Given the description of an element on the screen output the (x, y) to click on. 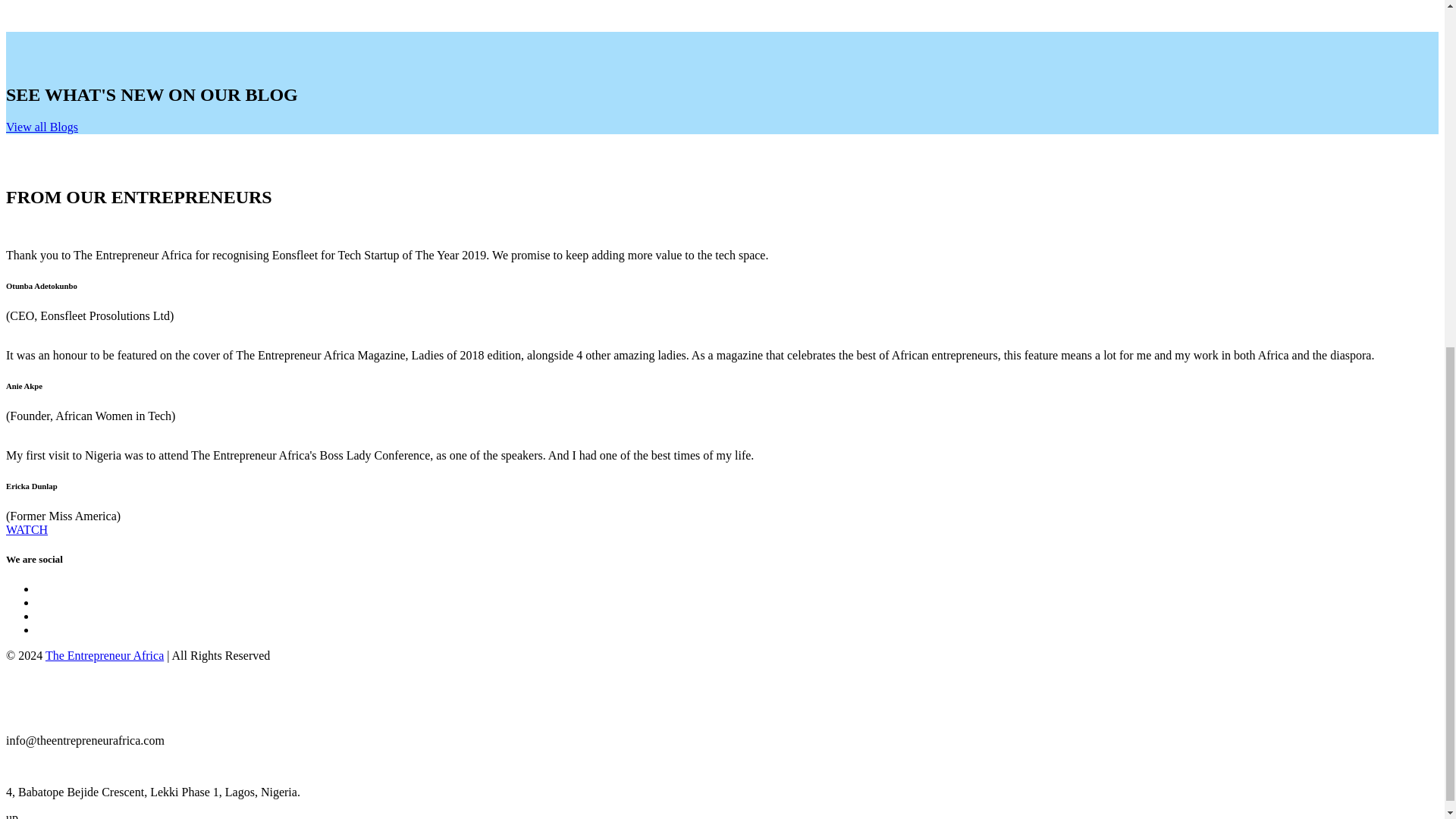
View all Blogs (41, 126)
The Entrepreneur Africa (104, 655)
WATCH (26, 529)
